Given the description of an element on the screen output the (x, y) to click on. 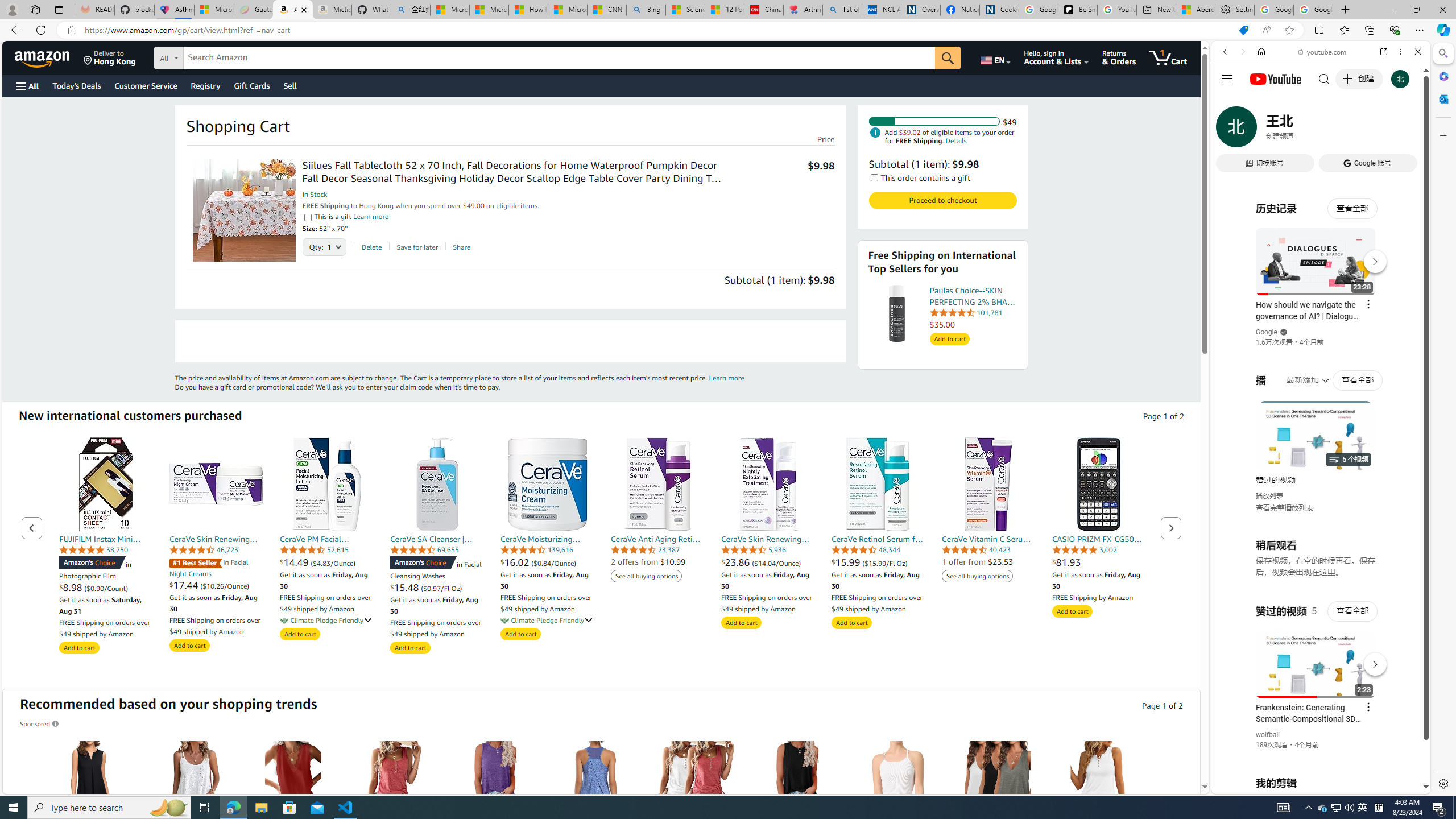
Class: dict_pnIcon rms_img (1312, 784)
($0.97/Fl Oz) (441, 587)
